Given the description of an element on the screen output the (x, y) to click on. 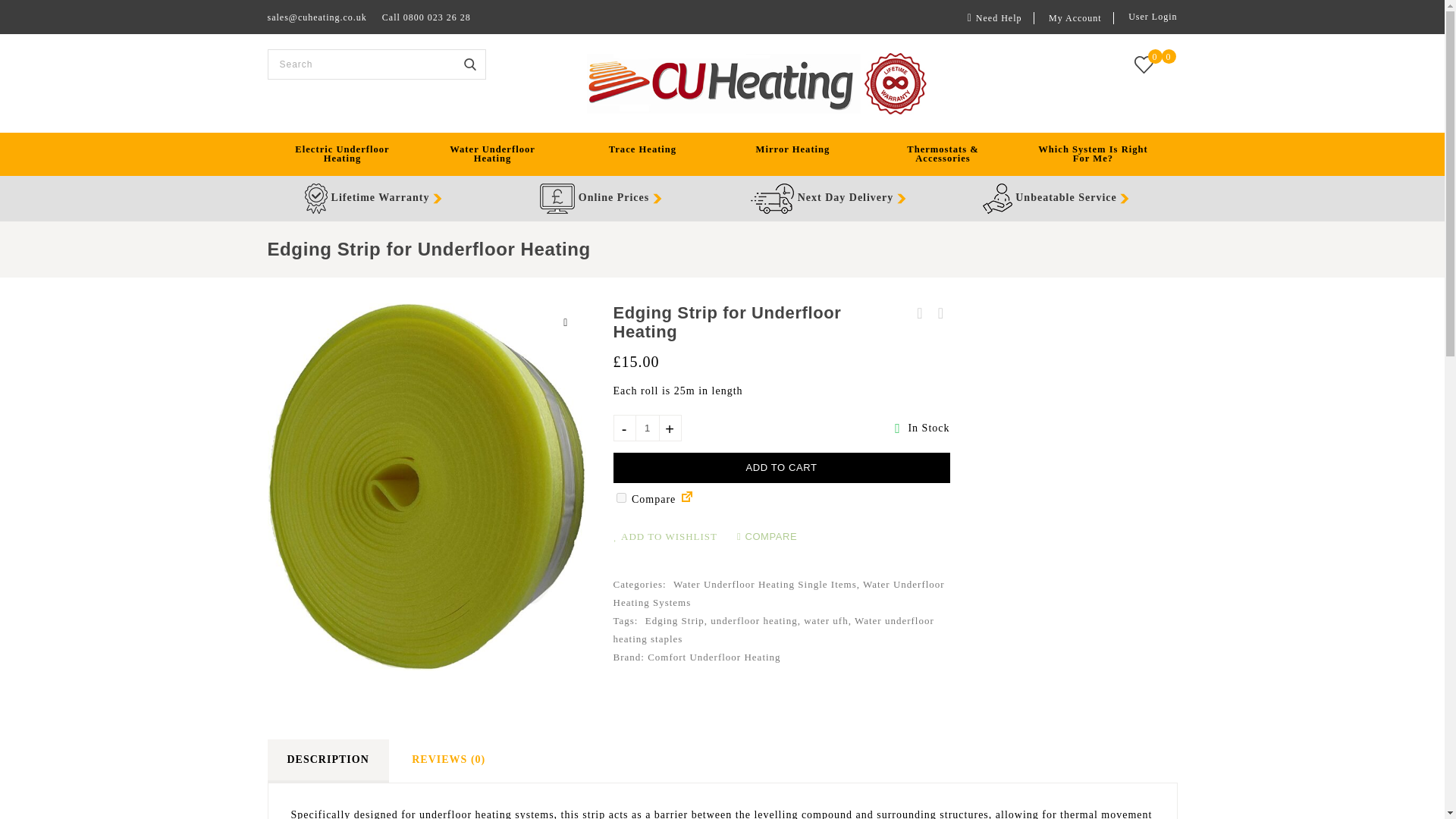
Call 0800 023 26 28 (425, 17)
0 (1142, 64)
Go (469, 63)
on (620, 497)
My Account (1074, 18)
User Login (1146, 16)
Go (469, 63)
Compare Page (686, 499)
Go (469, 63)
Need Help (996, 18)
CU Heating (757, 83)
